Given the description of an element on the screen output the (x, y) to click on. 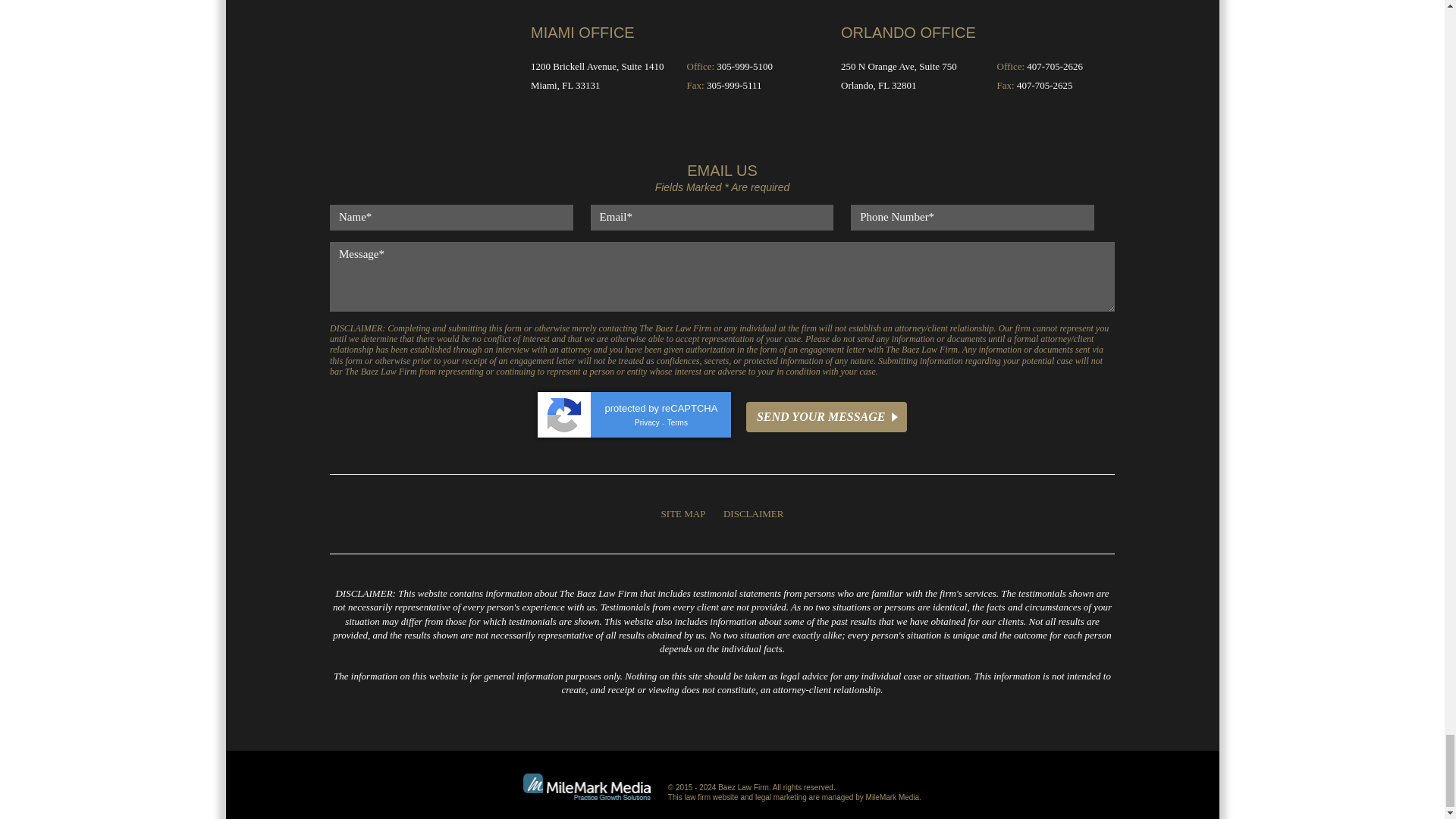
Send Your Message (826, 417)
